Given the description of an element on the screen output the (x, y) to click on. 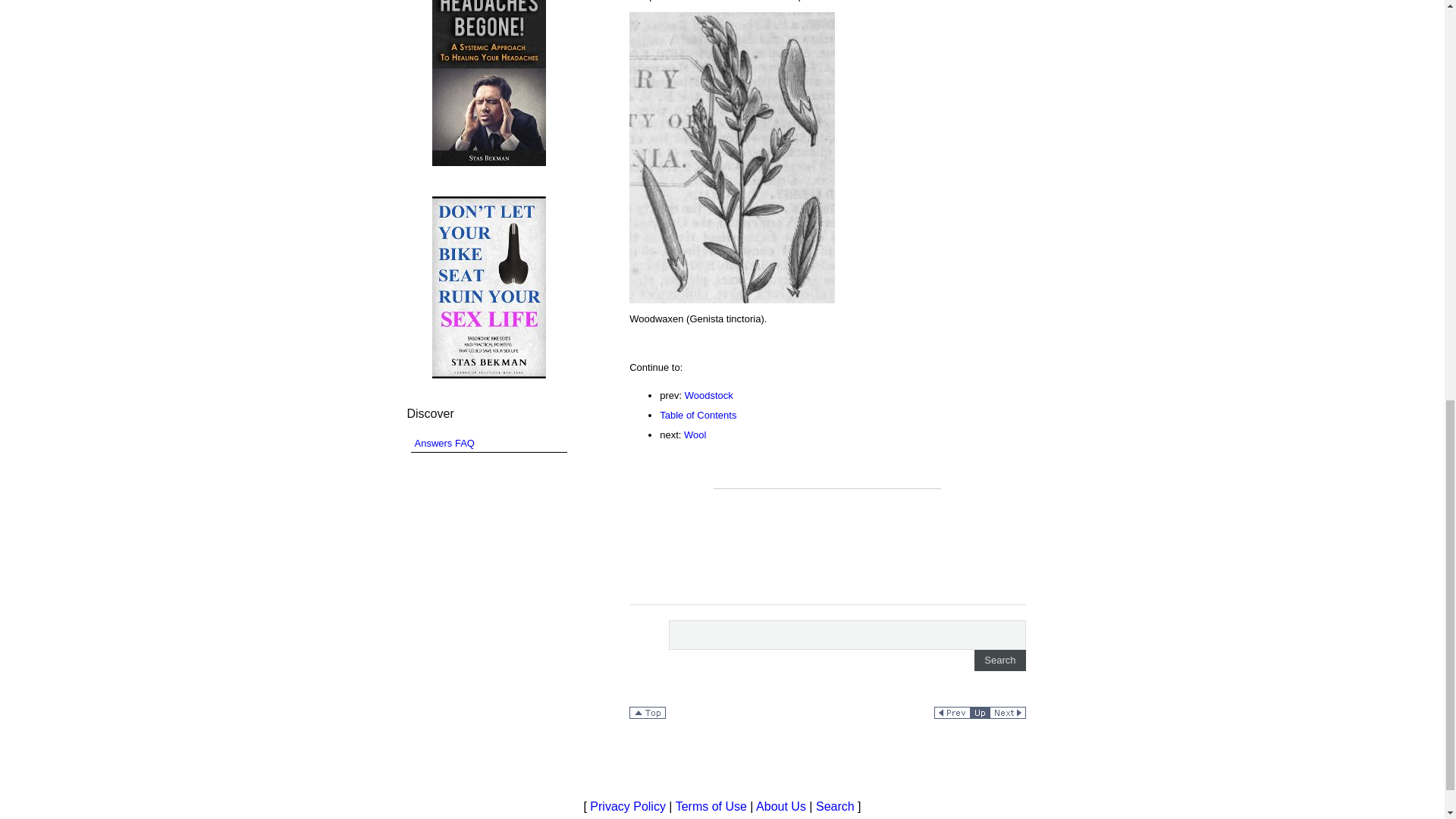
Search (999, 659)
Woodstock (708, 395)
Wool (695, 434)
Table of Contents (697, 414)
Search (999, 659)
